Given the description of an element on the screen output the (x, y) to click on. 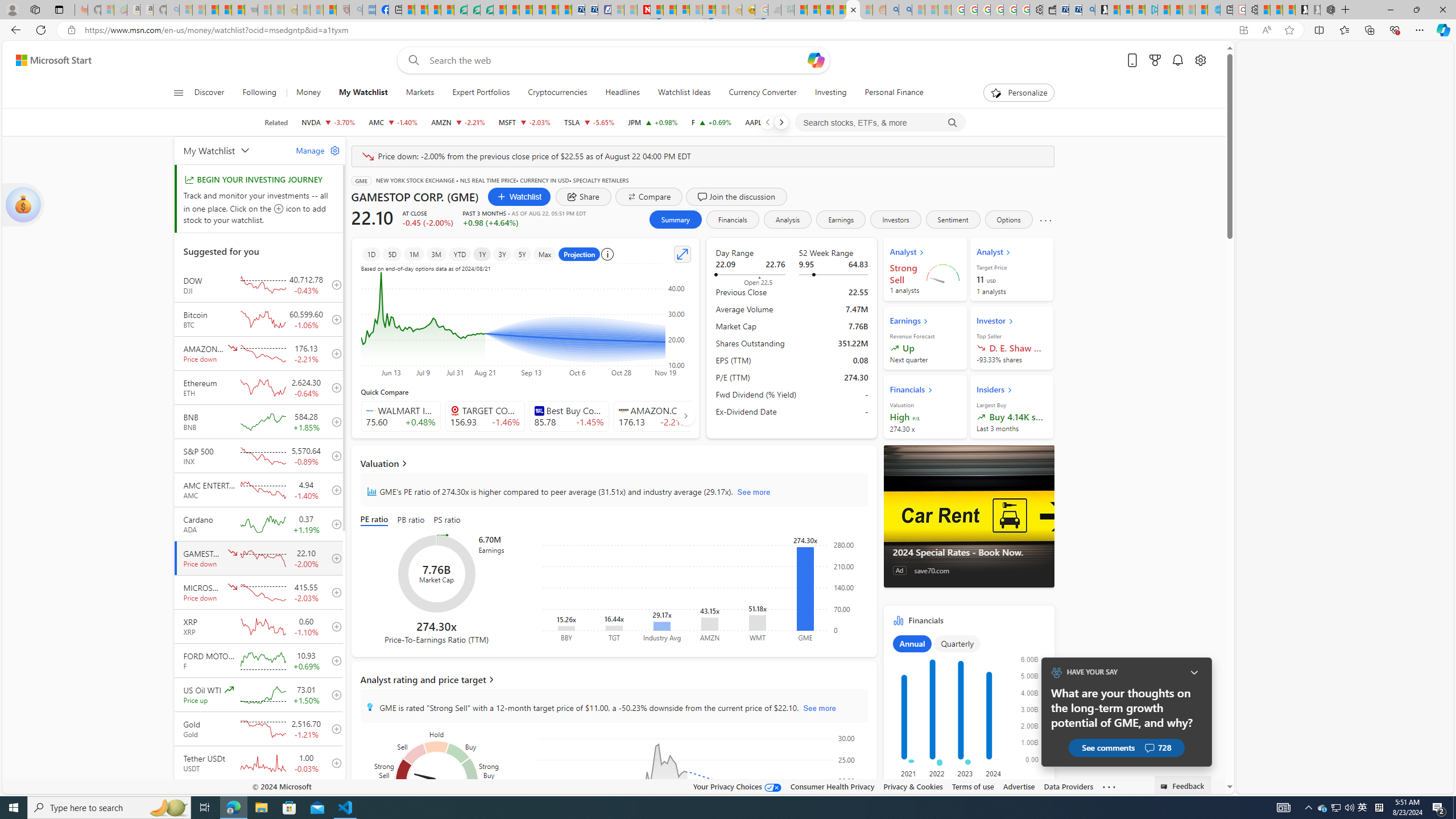
Search stocks, ETFs, & more (880, 122)
